Given the description of an element on the screen output the (x, y) to click on. 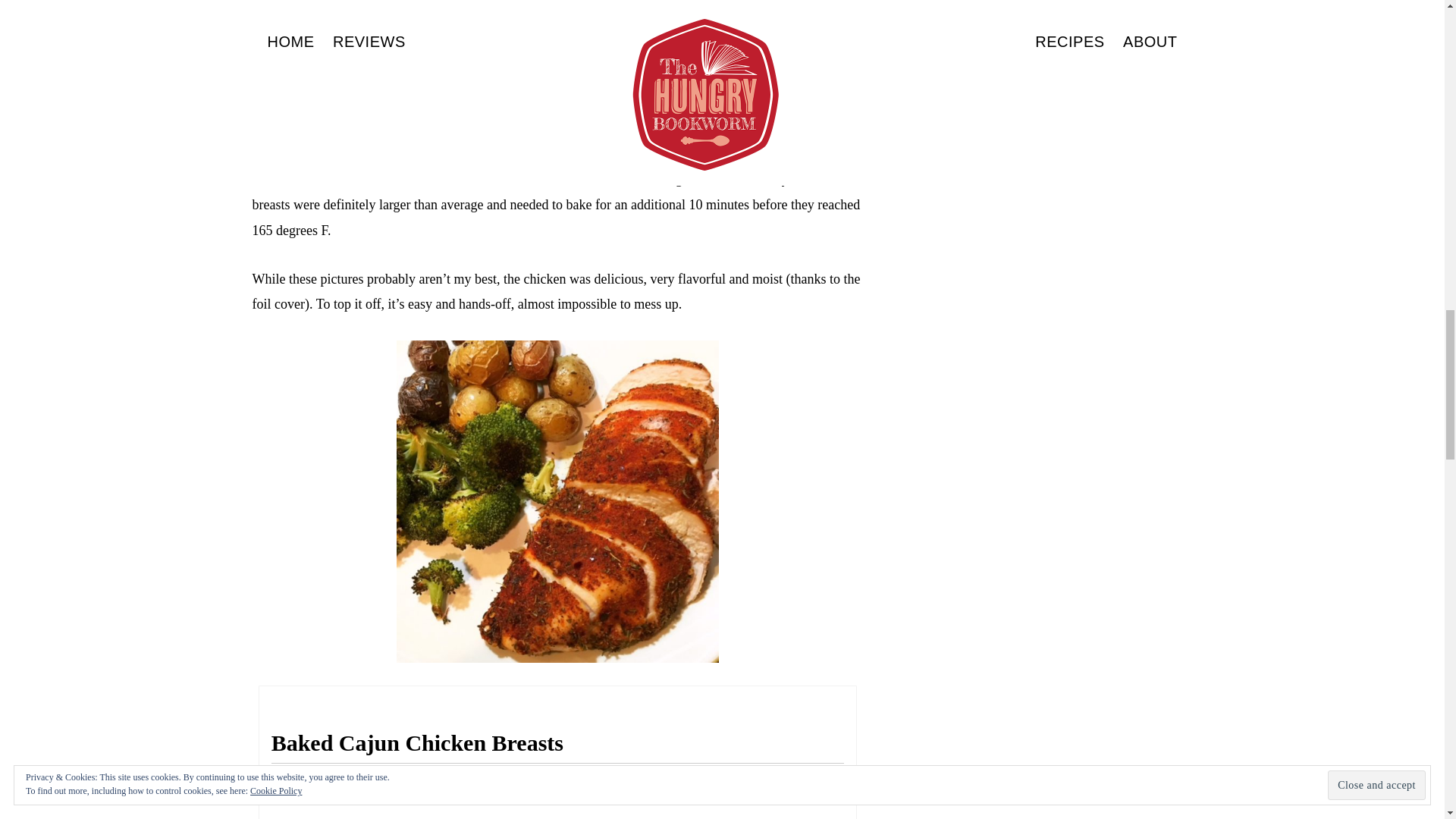
Print (832, 780)
